Given the description of an element on the screen output the (x, y) to click on. 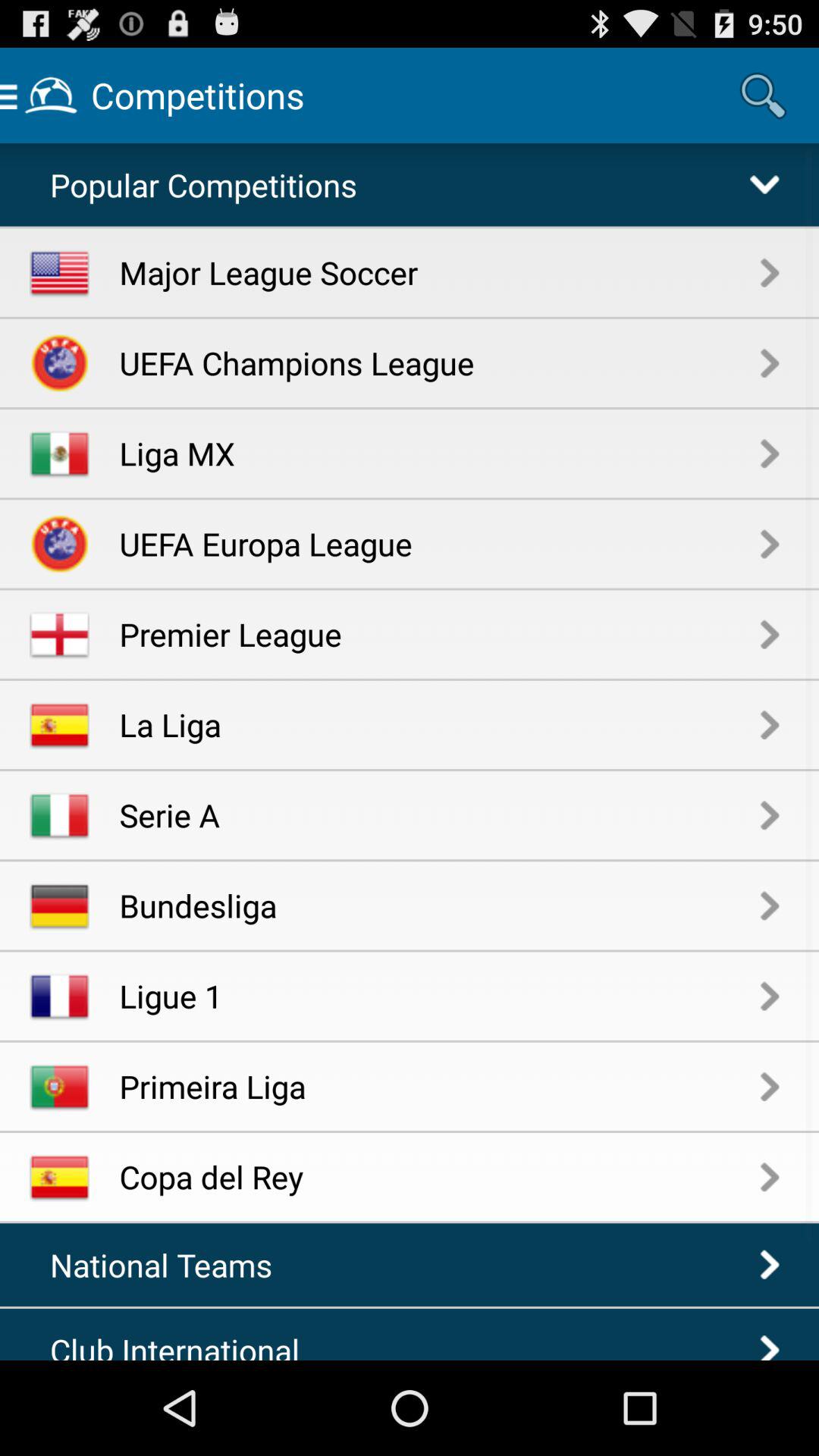
flip to la liga item (439, 724)
